Given the description of an element on the screen output the (x, y) to click on. 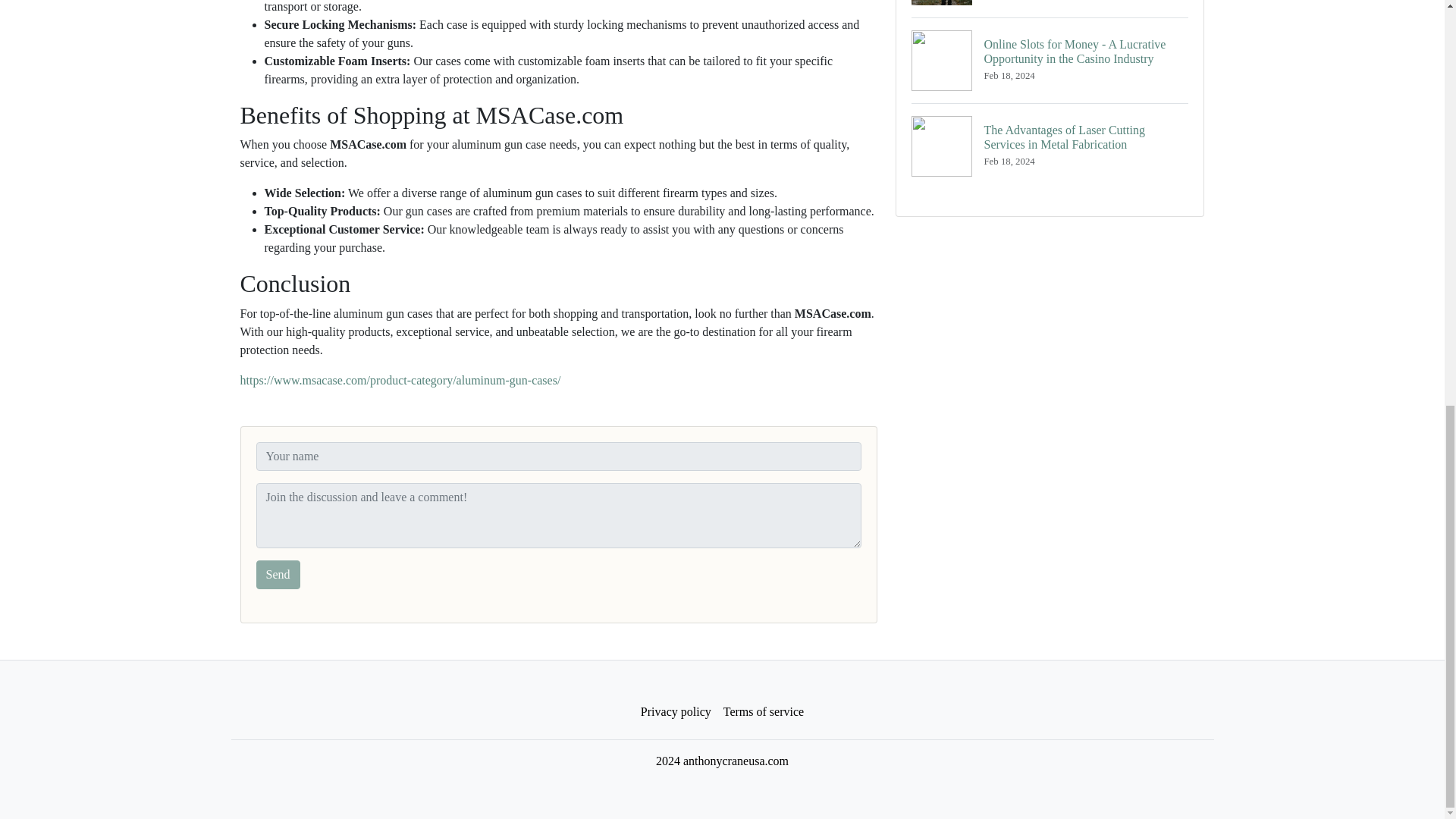
Terms of service (763, 711)
Send (277, 574)
Send (277, 574)
Privacy policy (675, 711)
